Given the description of an element on the screen output the (x, y) to click on. 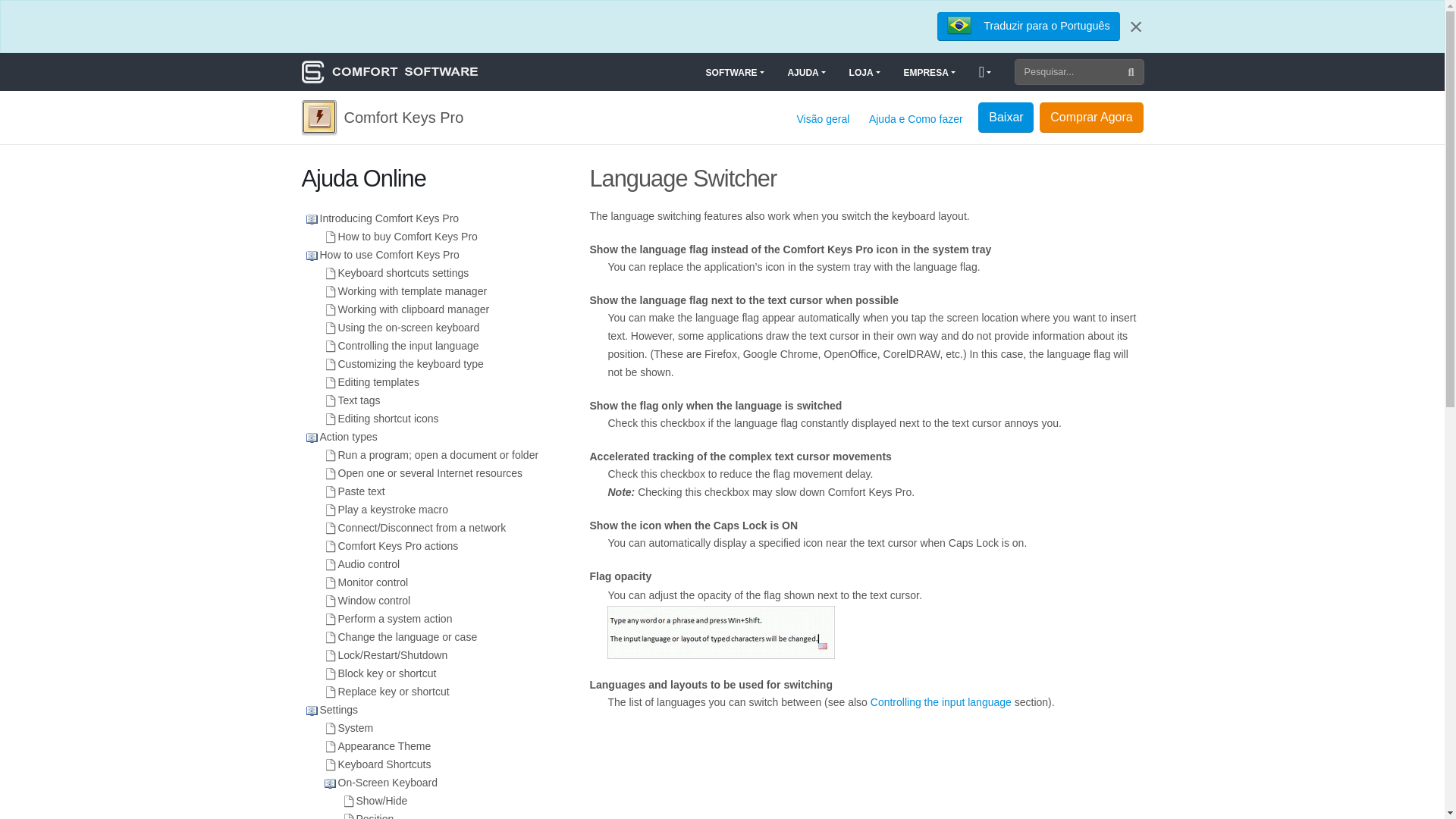
SOFTWARE (734, 72)
LOJA (864, 72)
EMPRESA (929, 72)
AJUDA (805, 72)
